Given the description of an element on the screen output the (x, y) to click on. 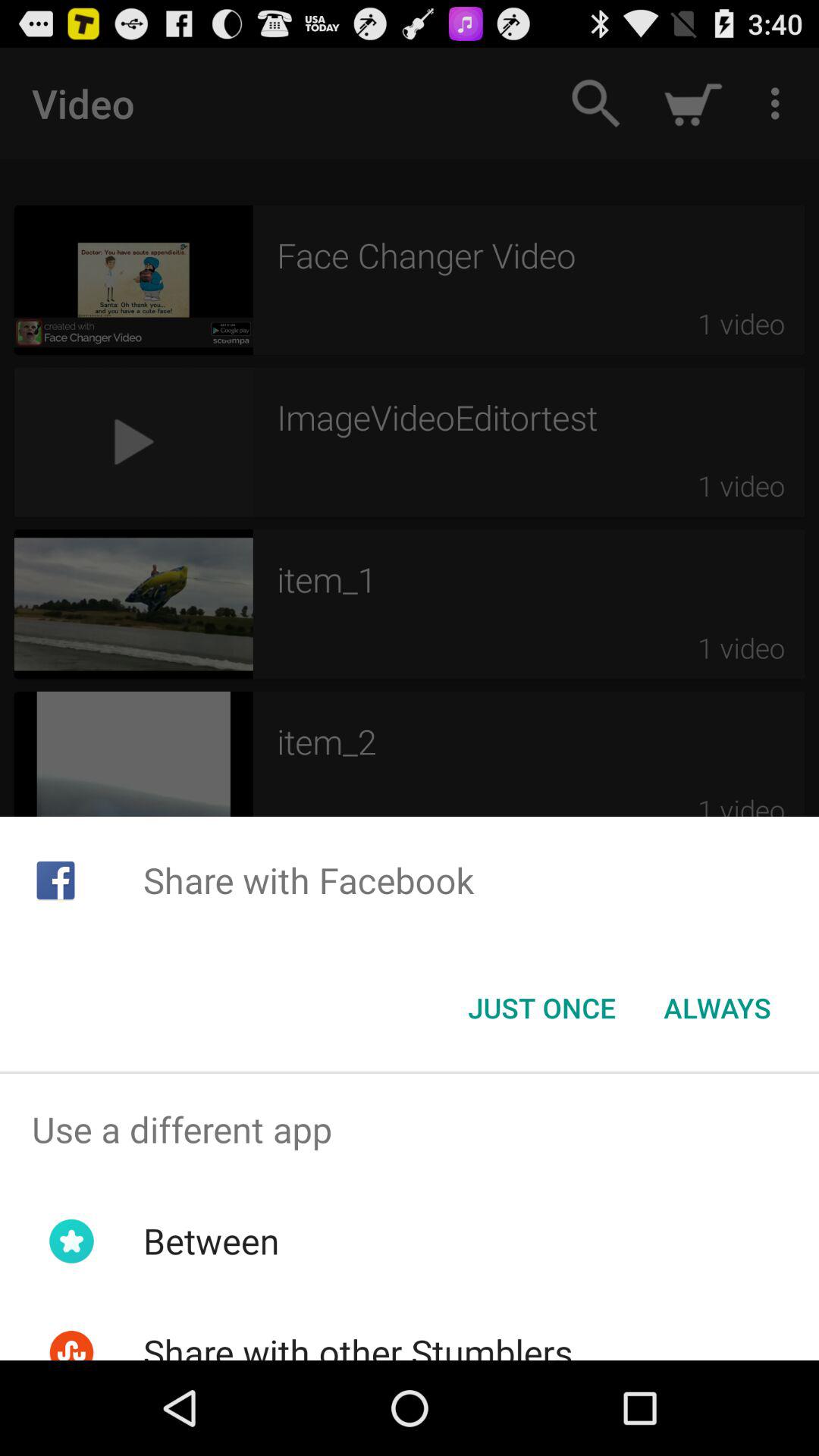
click just once item (541, 1007)
